Given the description of an element on the screen output the (x, y) to click on. 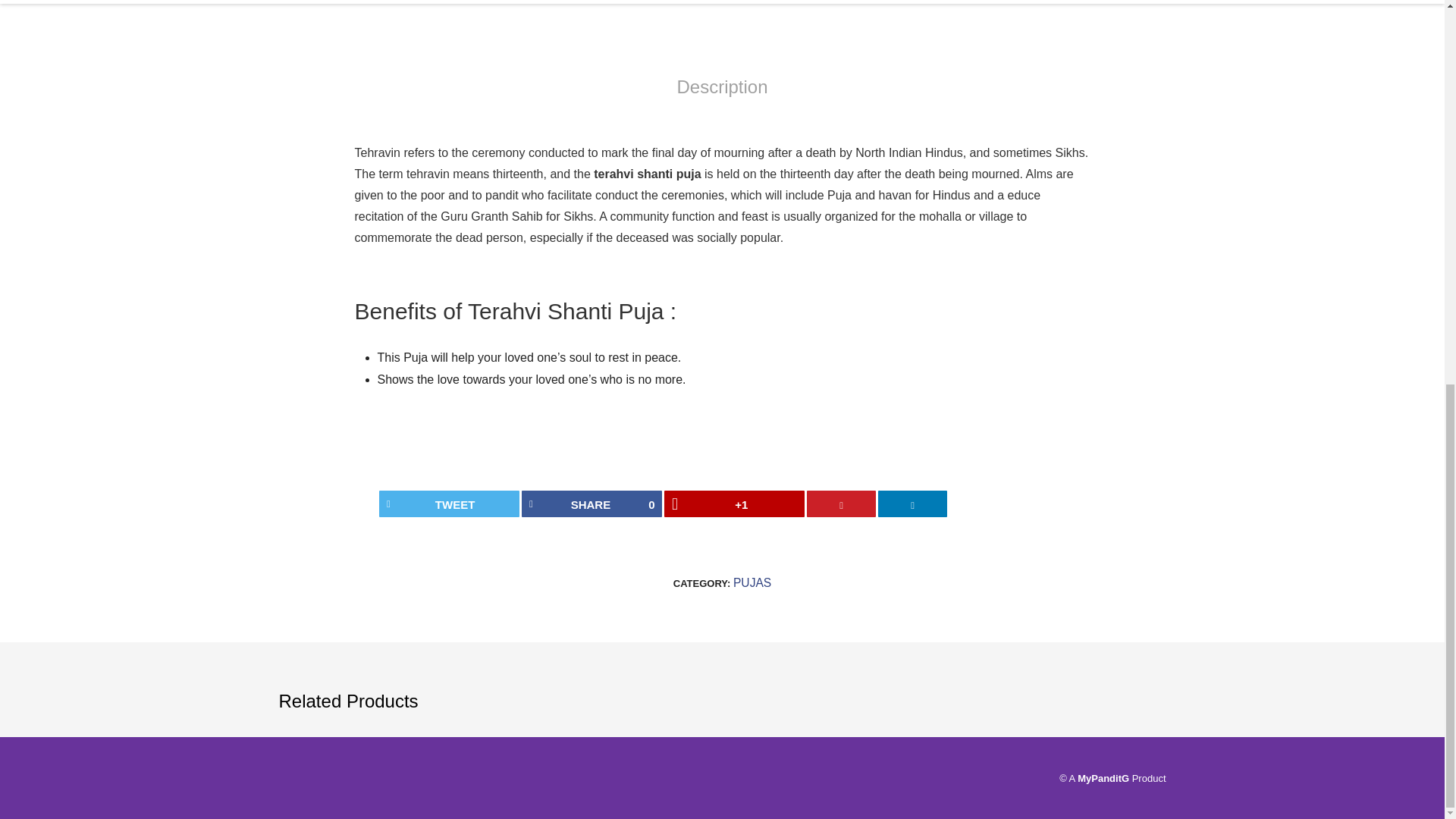
Tweet on Twitter (448, 503)
Share on Linkedin (912, 503)
Share on Pinterest (841, 503)
Share on Facebook (591, 503)
